Given the description of an element on the screen output the (x, y) to click on. 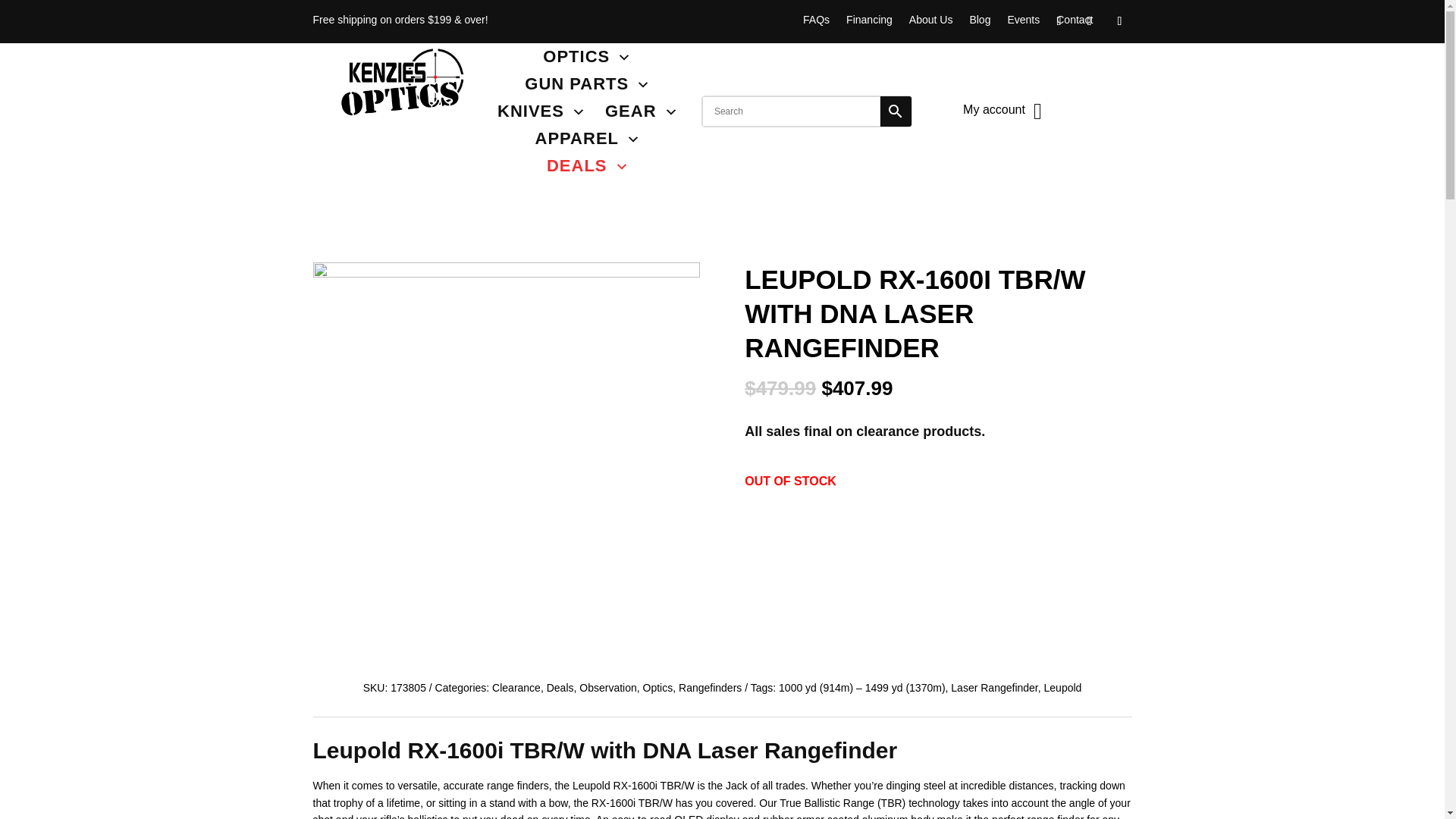
Events (1023, 22)
Contact (1075, 22)
FAQs (816, 22)
Follow on X (1058, 21)
Financing (868, 22)
Blog (979, 22)
Follow on Facebook (1088, 21)
OPTICS (587, 56)
173805-RX-1600i-TBRW-Black-copy-1-600x600 (505, 273)
About Us (930, 22)
